Given the description of an element on the screen output the (x, y) to click on. 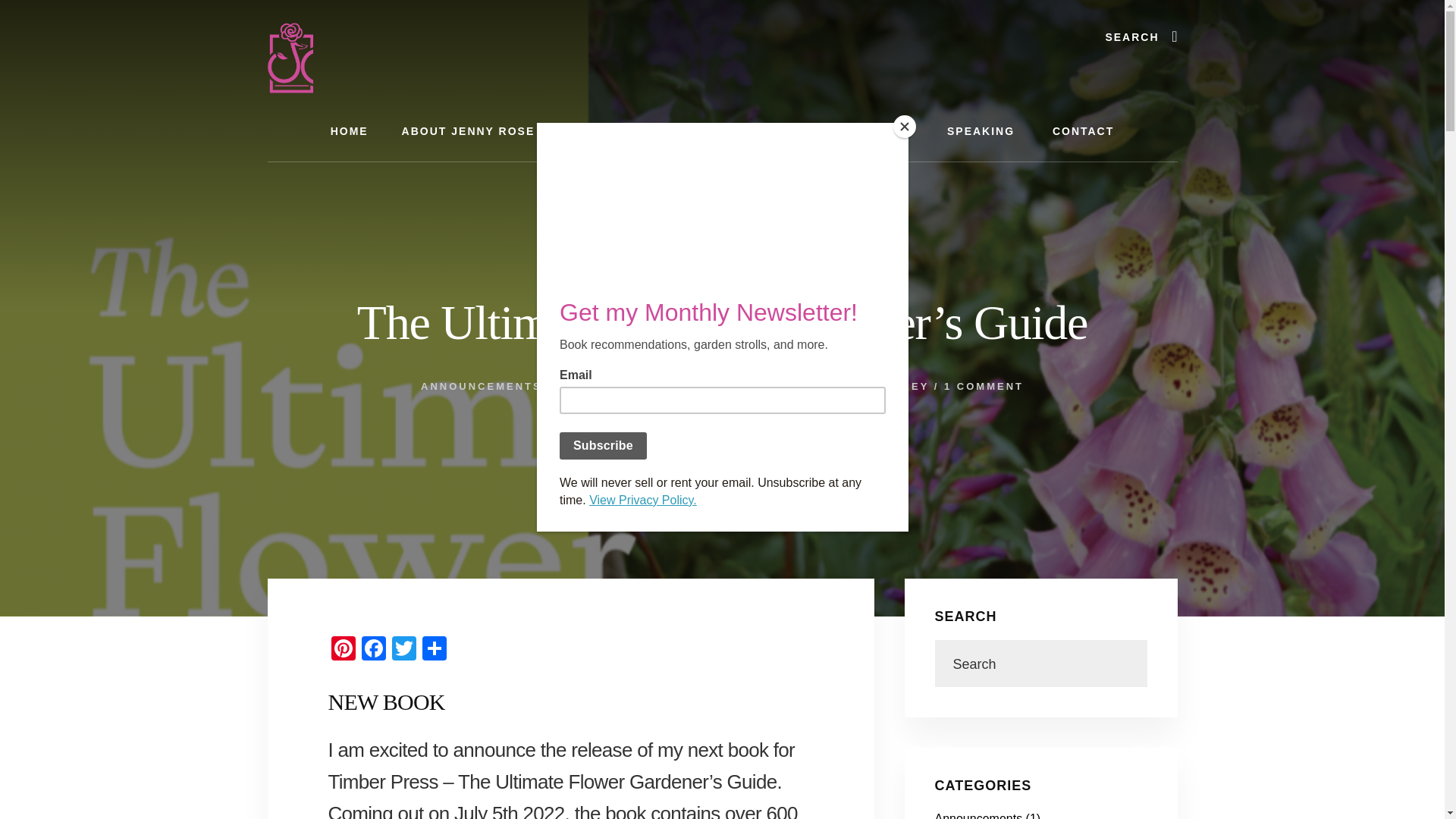
Share (433, 650)
BLOG (894, 131)
Twitter (403, 650)
Pinterest (342, 650)
Facebook (373, 650)
BOOKS (640, 131)
Facebook (373, 650)
SPEAKING  (982, 131)
GARDEN ADVICE (607, 386)
ABOUT JENNY ROSE CAREY (493, 131)
CONTACT (1082, 131)
